Given the description of an element on the screen output the (x, y) to click on. 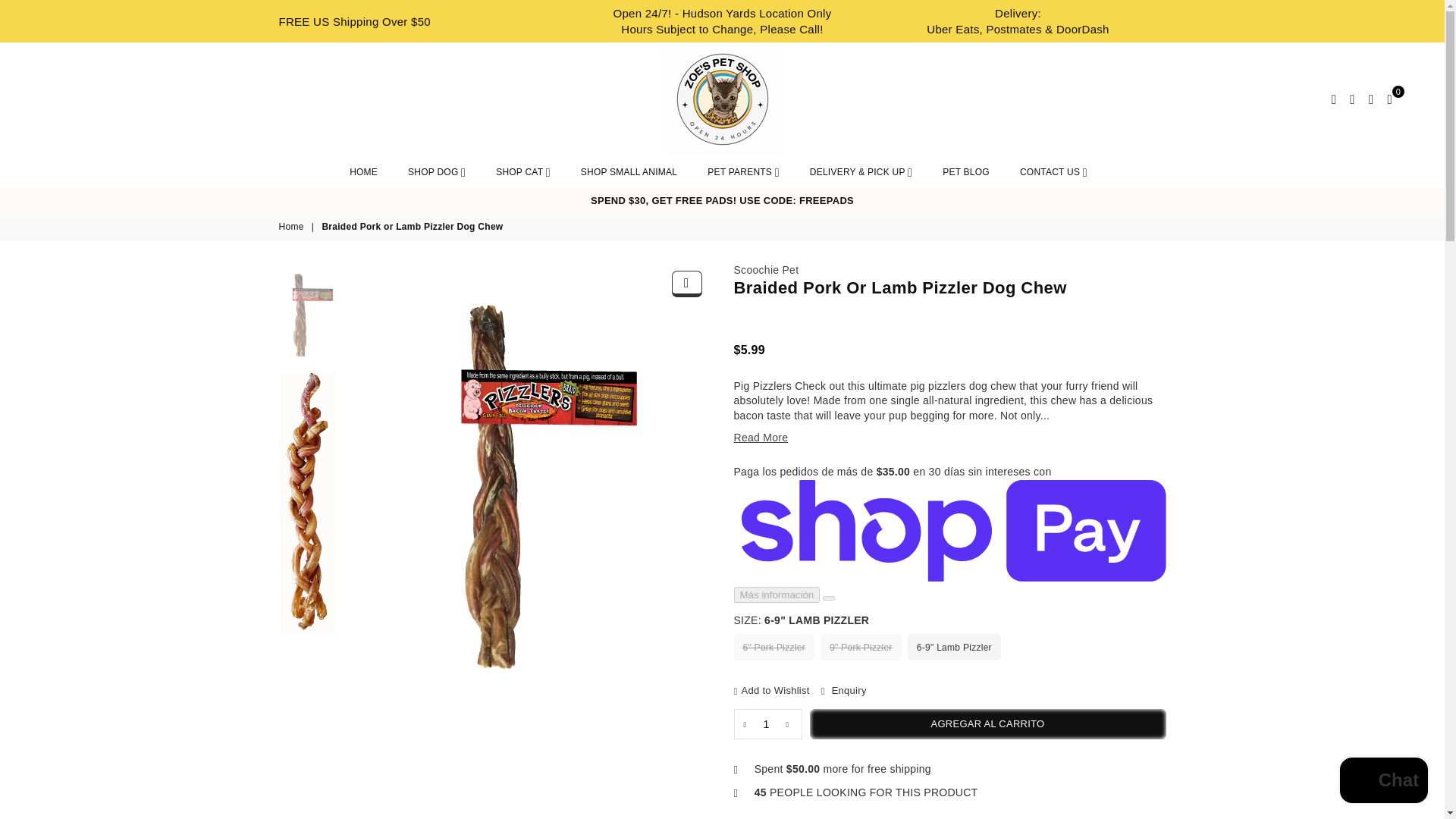
Back to the home page (292, 226)
Cantidad (767, 724)
Uber Eats, (954, 29)
Scoochie Pet (766, 269)
Postmates (1013, 29)
